Given the description of an element on the screen output the (x, y) to click on. 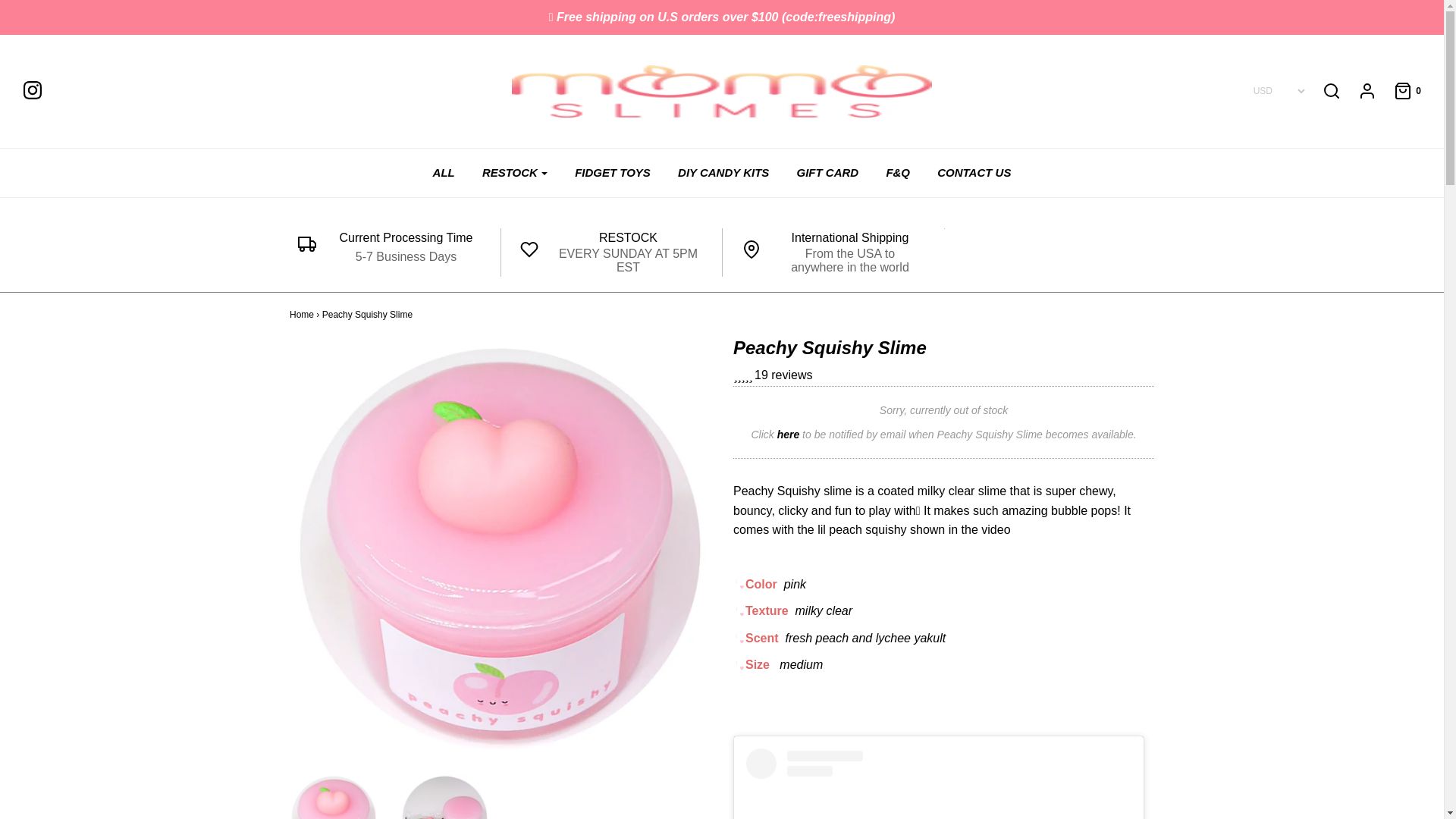
Search (1331, 90)
ALL (443, 172)
Back to the frontpage (301, 314)
Instagram icon (39, 90)
Peachy Squishy Slime (333, 796)
0 (1399, 90)
Log in (1358, 90)
Search (1101, 4)
Cart (1399, 90)
Instagram icon (32, 90)
